Given the description of an element on the screen output the (x, y) to click on. 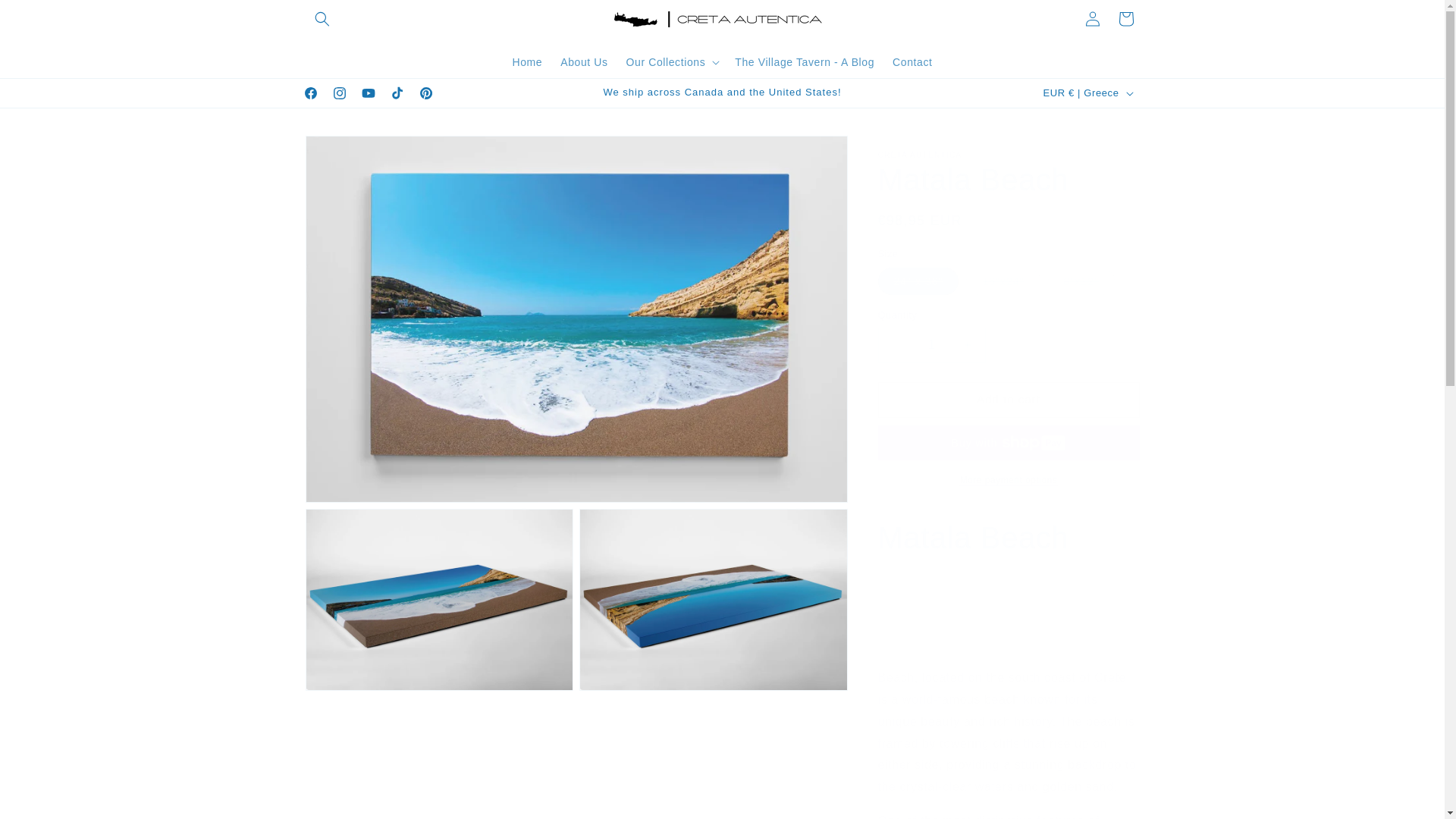
1 (931, 345)
Log in (1091, 19)
Home (526, 60)
Cart (1124, 19)
Skip to content (45, 17)
The Village Tavern - A Blog (804, 60)
Open media 3 in modal (713, 599)
About Us (583, 60)
Open media 2 in modal (438, 599)
